Given the description of an element on the screen output the (x, y) to click on. 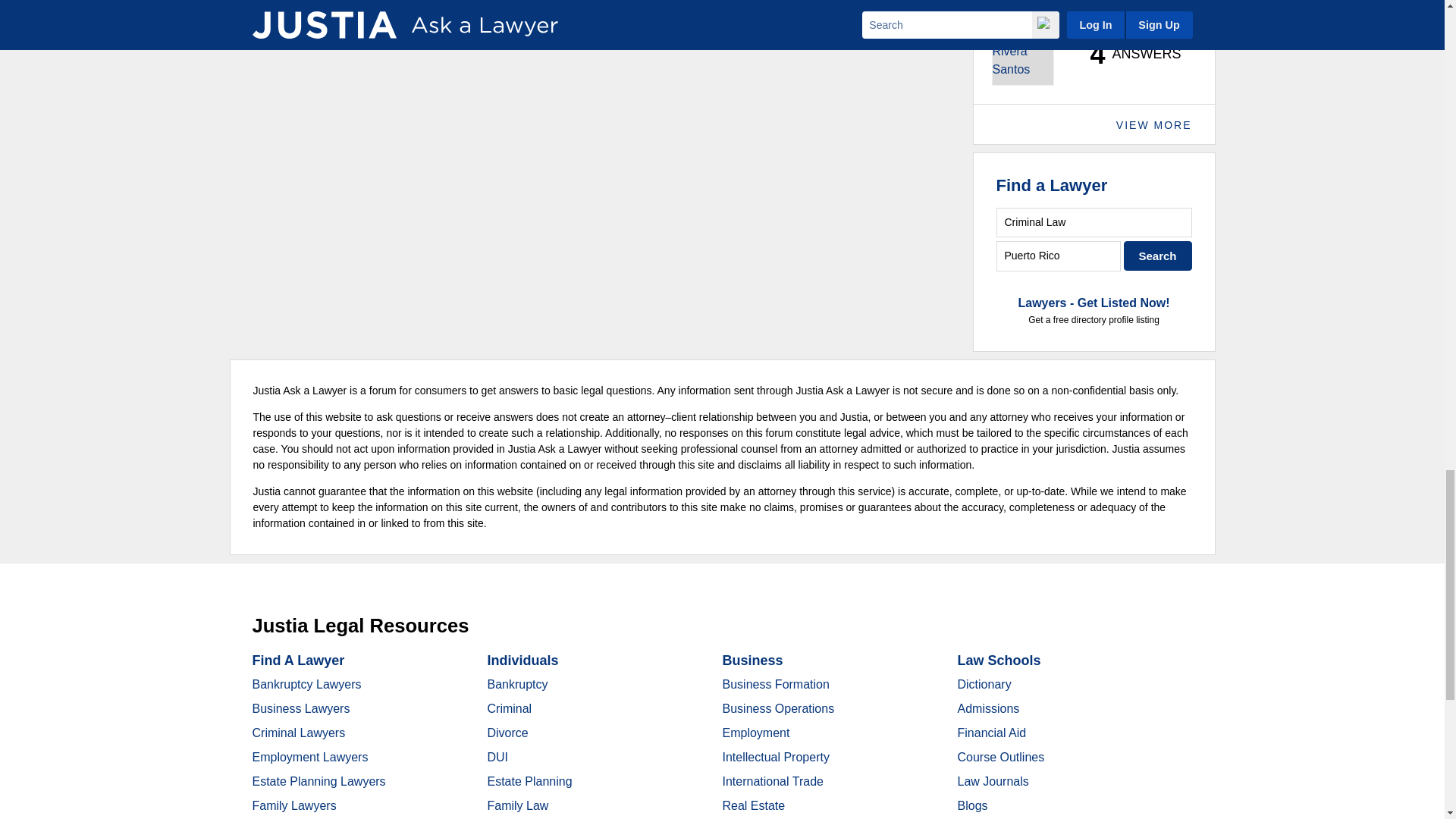
Ask a Lawyer - Leaderboard - Lawyer Photo (1021, 54)
Ask a Lawyer - Leaderboard - Lawyer Stats (1127, 53)
Search (1158, 255)
Criminal Law (1093, 222)
Legal Issue or Lawyer Name (1093, 222)
Search (1158, 255)
Puerto Rico (1058, 255)
Ask a Lawyer - Leaderboard - Lawyer Name (1058, 3)
City, State (1058, 255)
